Given the description of an element on the screen output the (x, y) to click on. 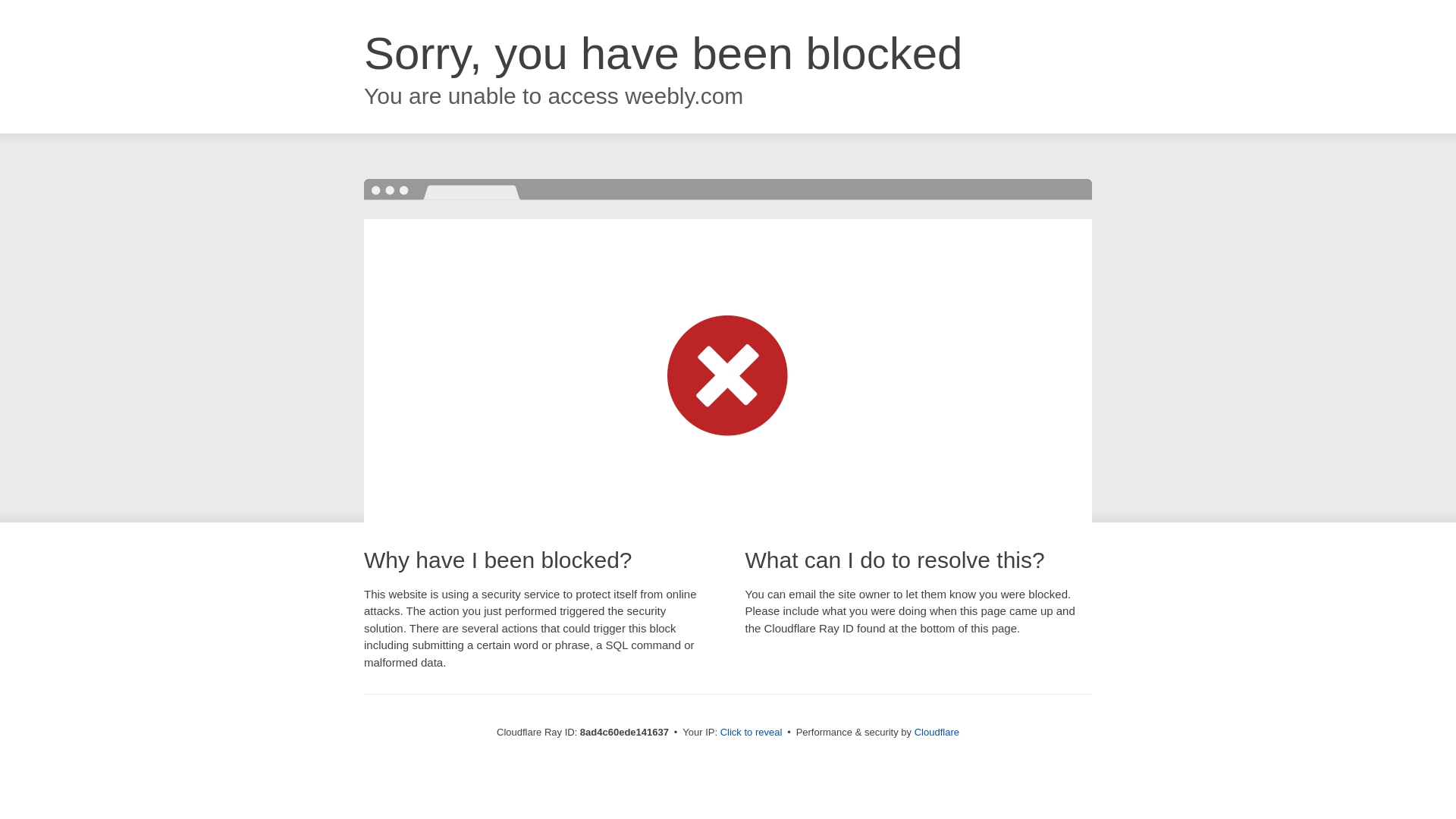
Click to reveal (751, 732)
Cloudflare (936, 731)
